Given the description of an element on the screen output the (x, y) to click on. 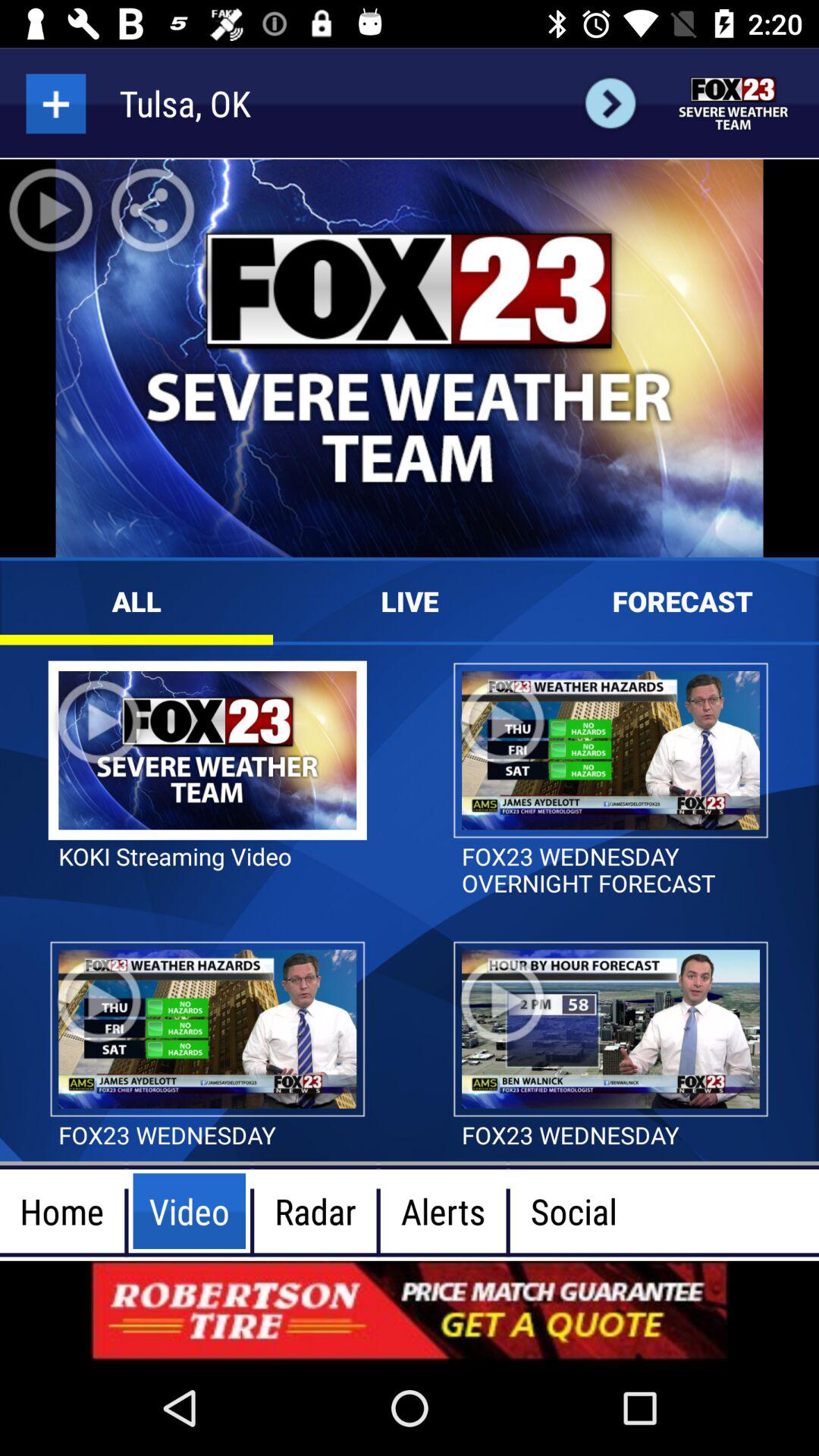
plex (55, 103)
